Given the description of an element on the screen output the (x, y) to click on. 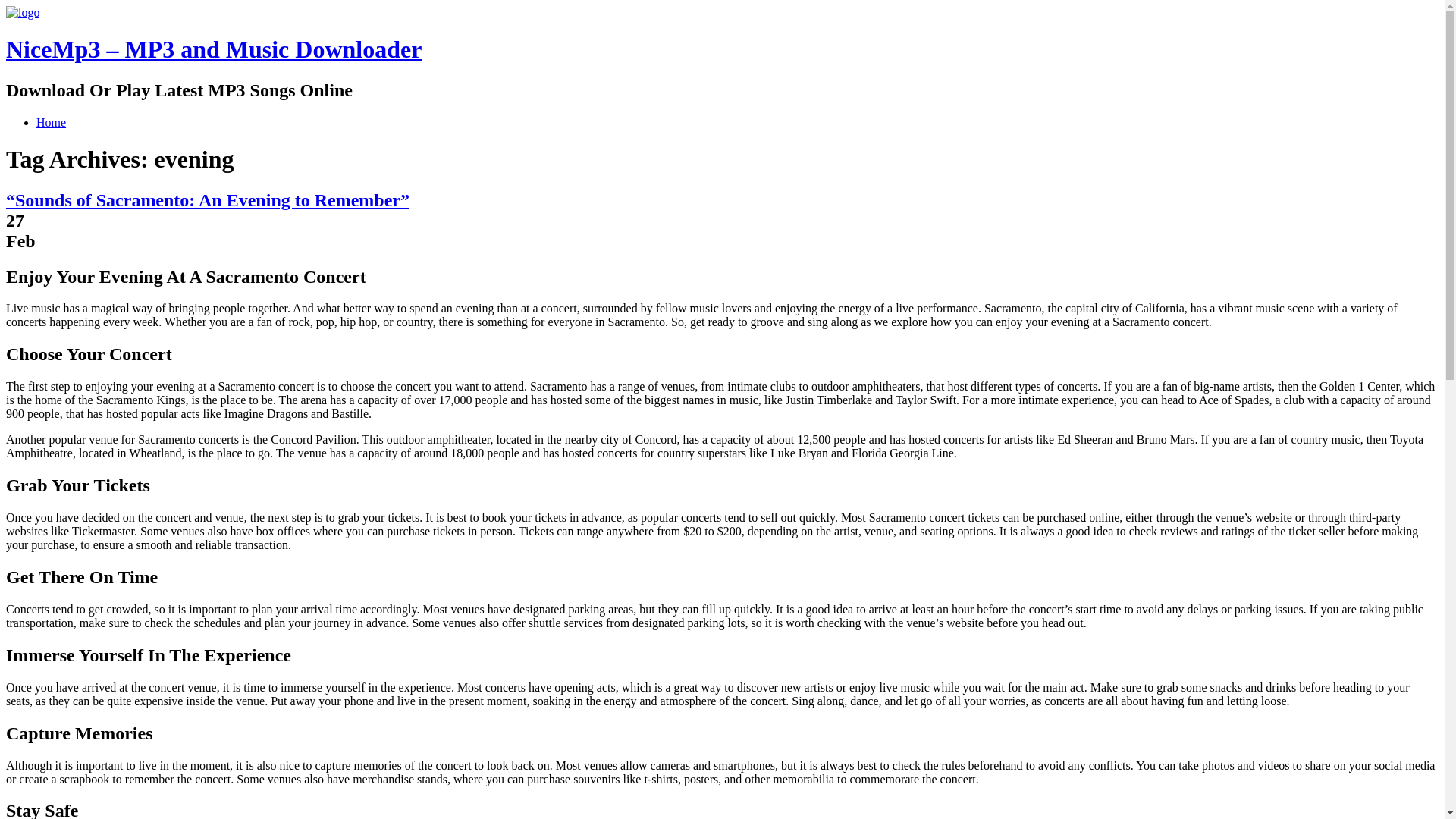
Home (50, 122)
